Given the description of an element on the screen output the (x, y) to click on. 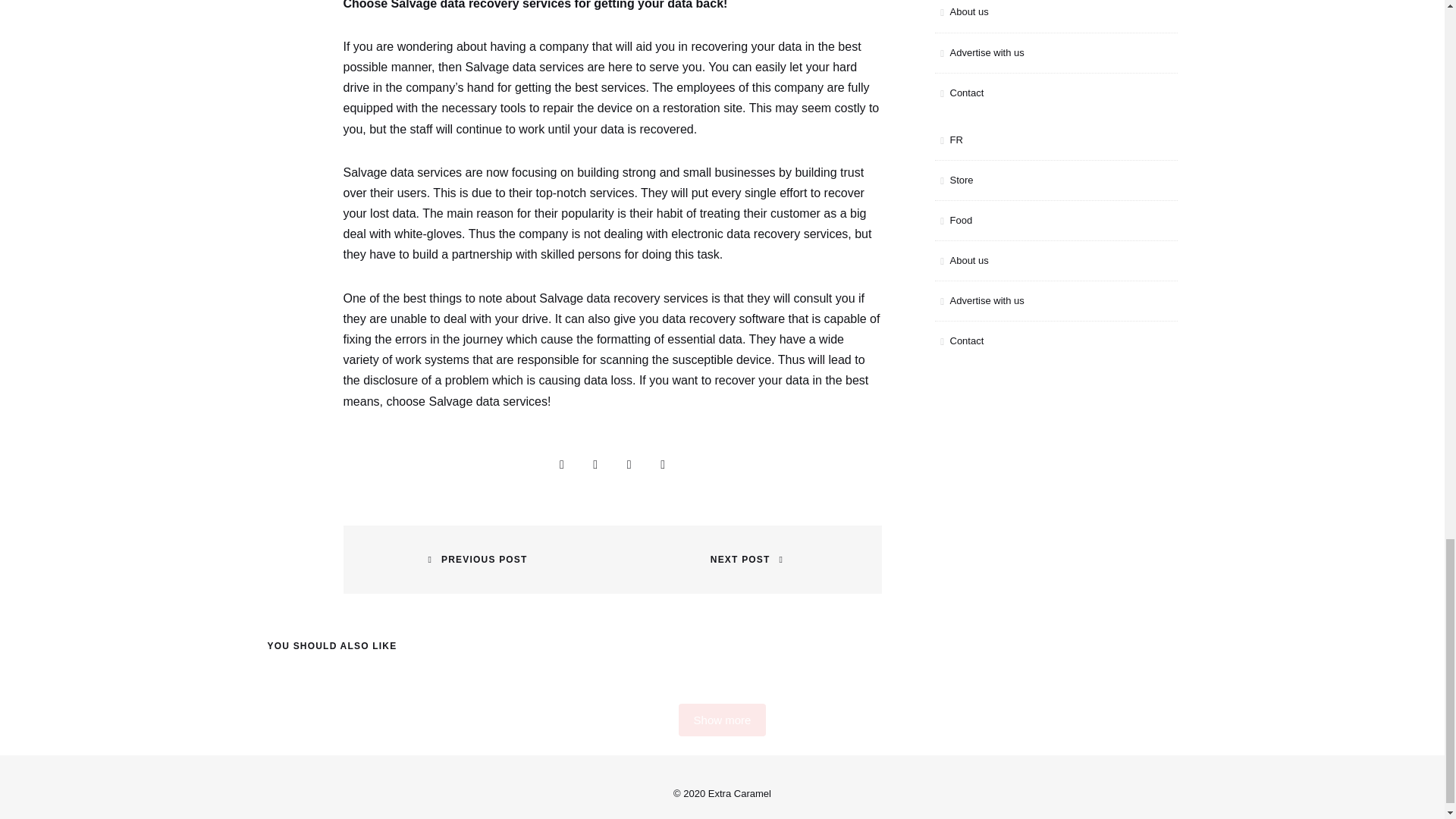
Twitter (629, 464)
Pinterest (662, 464)
Facebook (594, 464)
